Given the description of an element on the screen output the (x, y) to click on. 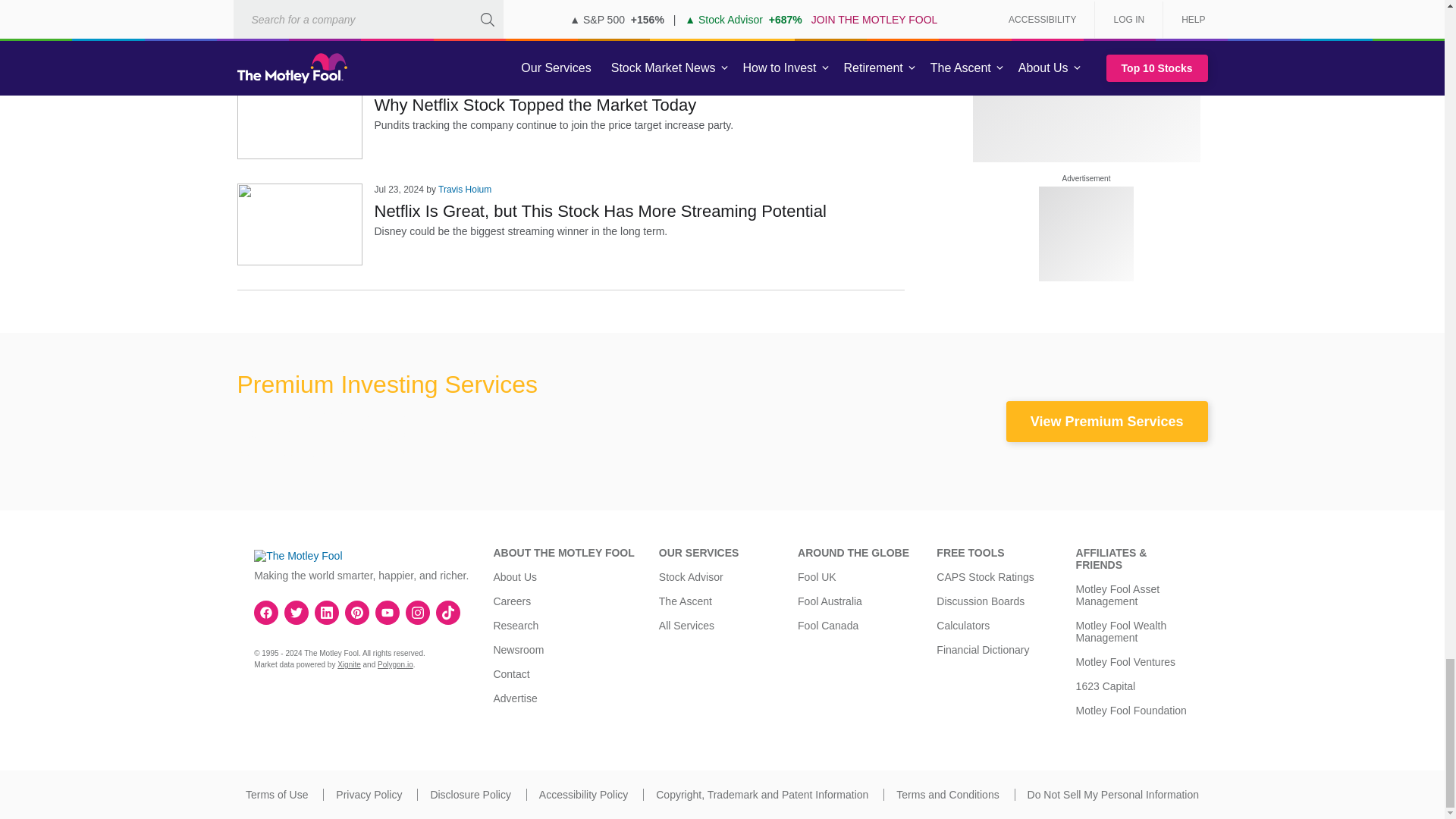
Privacy Policy (368, 794)
Terms and Conditions (947, 794)
Accessibility Policy (582, 794)
Do Not Sell My Personal Information. (1112, 794)
Copyright, Trademark and Patent Information (761, 794)
Terms of Use (276, 794)
Disclosure Policy (470, 794)
